Given the description of an element on the screen output the (x, y) to click on. 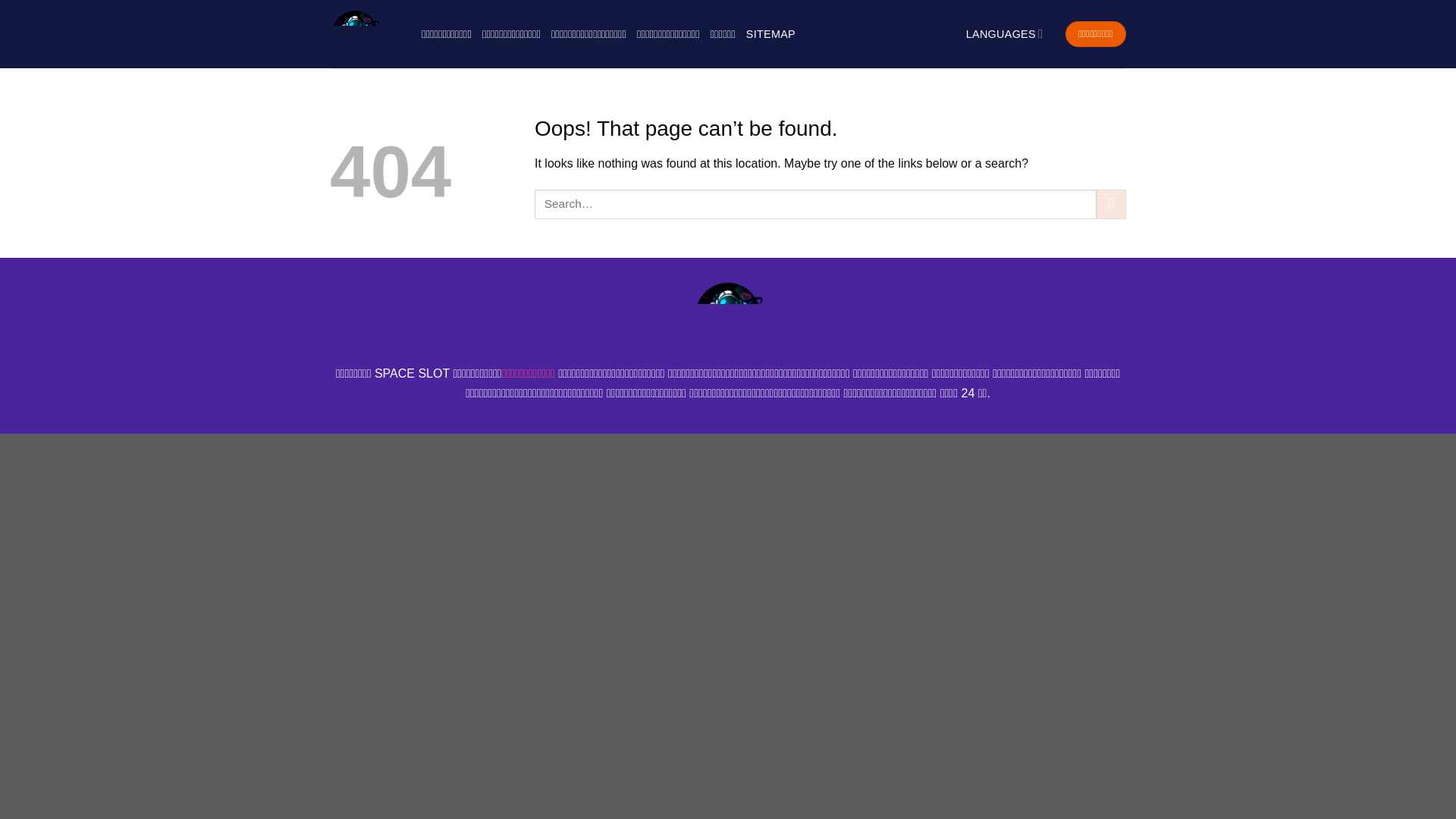
SITEMAP (769, 33)
LANGUAGES (1004, 33)
